Given the description of an element on the screen output the (x, y) to click on. 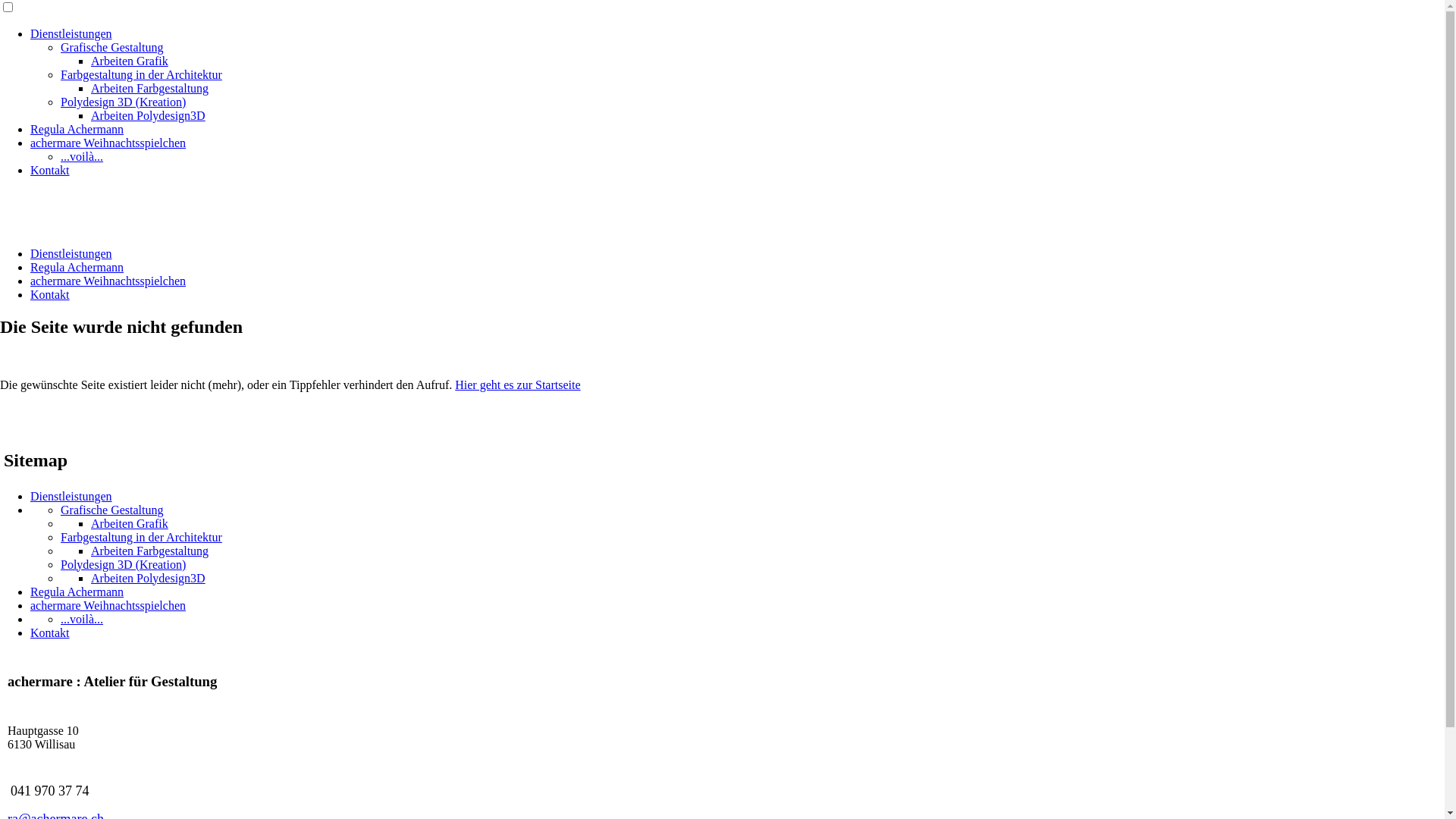
Grafische Gestaltung Element type: text (111, 46)
Arbeiten Grafik Element type: text (129, 60)
Dienstleistungen Element type: text (71, 33)
Dienstleistungen Element type: text (71, 253)
Regula Achermann Element type: text (76, 128)
Farbgestaltung in der Architektur Element type: text (141, 536)
Kontakt Element type: text (49, 632)
Grafische Gestaltung Element type: text (111, 509)
achermare Weihnachtsspielchen Element type: text (107, 142)
Hier geht es zur Startseite Element type: text (517, 384)
Regula Achermann Element type: text (76, 591)
Arbeiten Farbgestaltung Element type: text (149, 87)
Arbeiten Farbgestaltung Element type: text (149, 550)
achermare Weihnachtsspielchen Element type: text (107, 605)
Arbeiten Polydesign3D Element type: text (148, 577)
Arbeiten Grafik Element type: text (129, 523)
Polydesign 3D (Kreation) Element type: text (122, 101)
Farbgestaltung in der Architektur Element type: text (141, 74)
Regula Achermann Element type: text (76, 266)
Kontakt Element type: text (49, 294)
Polydesign 3D (Kreation) Element type: text (122, 564)
Dienstleistungen Element type: text (71, 495)
Kontakt Element type: text (49, 169)
achermare Weihnachtsspielchen Element type: text (107, 280)
Arbeiten Polydesign3D Element type: text (148, 115)
